Given the description of an element on the screen output the (x, y) to click on. 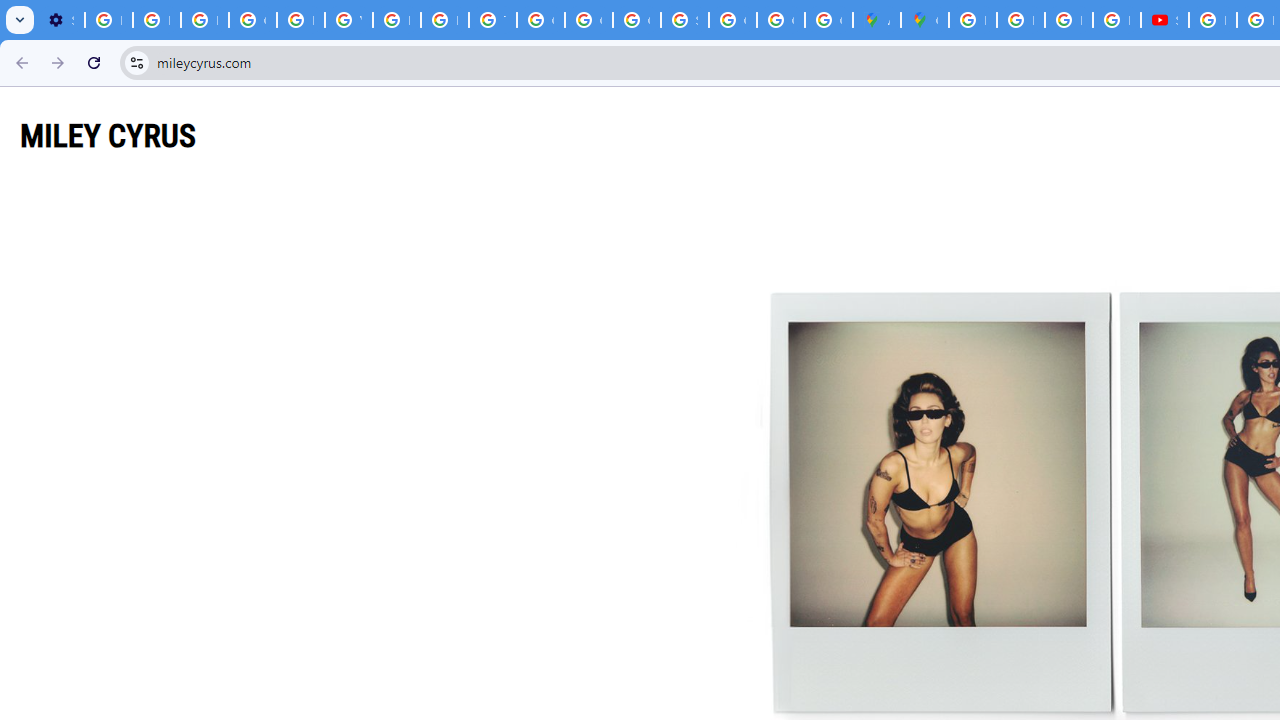
YouTube (348, 20)
How Chrome protects your passwords - Google Chrome Help (1212, 20)
Subscriptions - YouTube (1164, 20)
Sign in - Google Accounts (684, 20)
Privacy Help Center - Policies Help (300, 20)
Learn how to find your photos - Google Photos Help (156, 20)
Privacy Help Center - Policies Help (1068, 20)
Settings - Customize profile (60, 20)
